Given the description of an element on the screen output the (x, y) to click on. 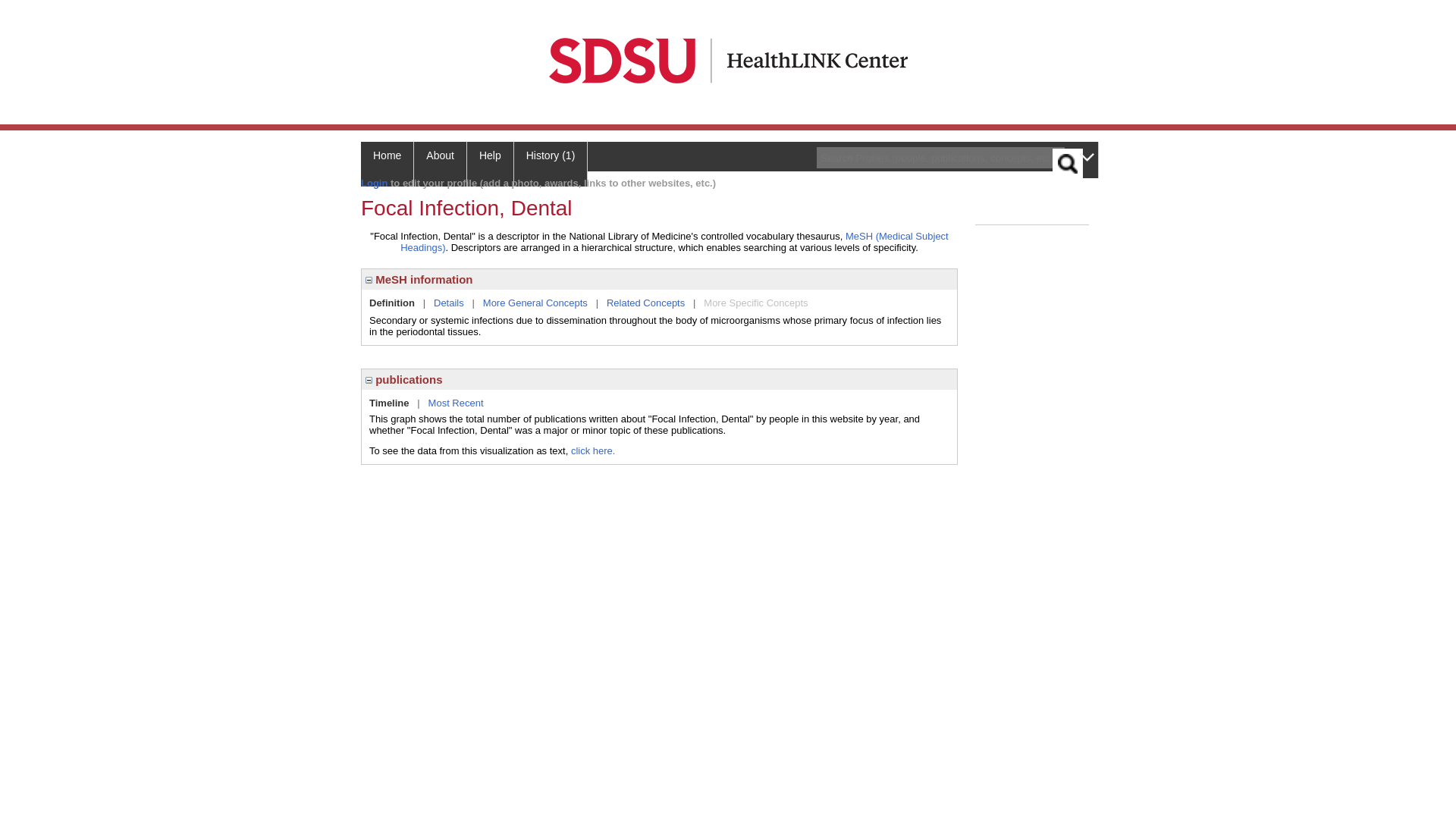
More General Concepts (535, 302)
Definition (391, 302)
Related Concepts (645, 302)
About (440, 163)
Help (490, 163)
Details (448, 302)
More Specific Concepts (755, 302)
Home (387, 163)
Login (374, 183)
